Given the description of an element on the screen output the (x, y) to click on. 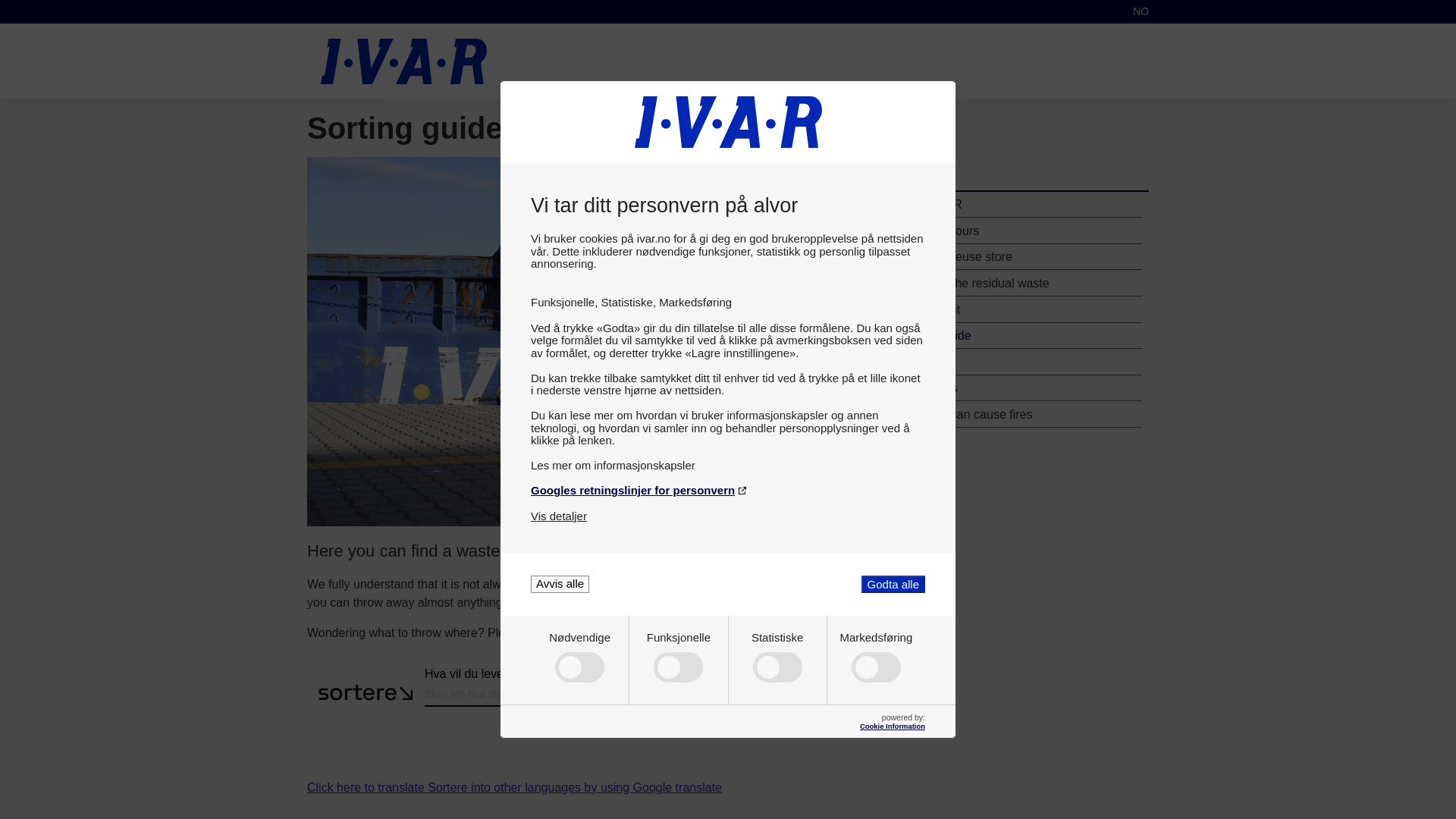
Cookie Information (892, 725)
Les mer om informasjonskapsler (727, 464)
Avvis alle (560, 583)
Vis detaljer (558, 515)
Googles retningslinjer for personvern (727, 490)
Godta alle (892, 583)
